Given the description of an element on the screen output the (x, y) to click on. 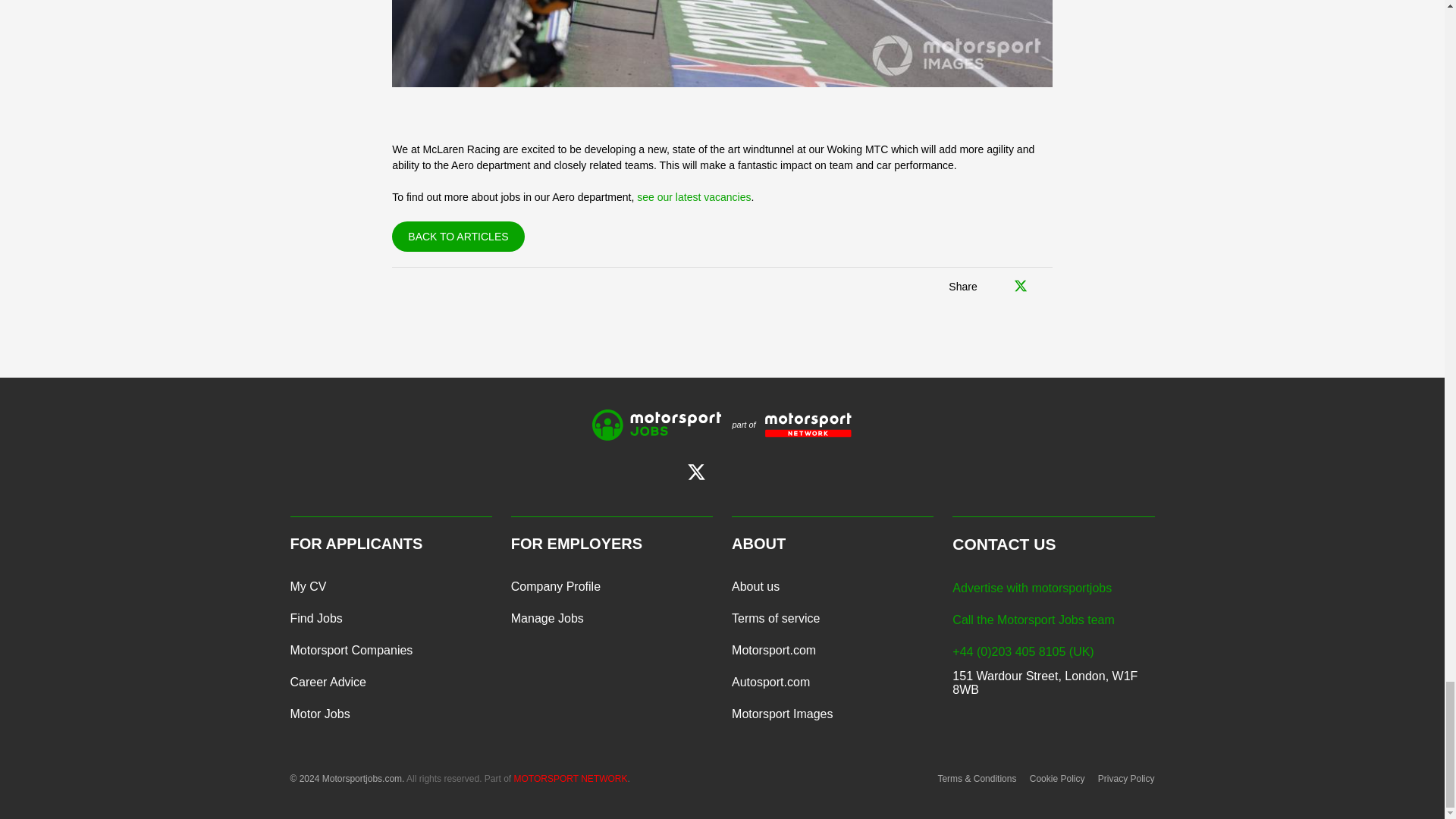
part of (785, 424)
My CV (307, 586)
Motorsportjobs.com (656, 424)
Career Advice (327, 682)
see our latest vacancies (694, 196)
BACK TO ARTICLES (457, 236)
Find Jobs (315, 618)
Motorsport Companies (350, 650)
About us (755, 586)
Manage Jobs (547, 618)
